Given the description of an element on the screen output the (x, y) to click on. 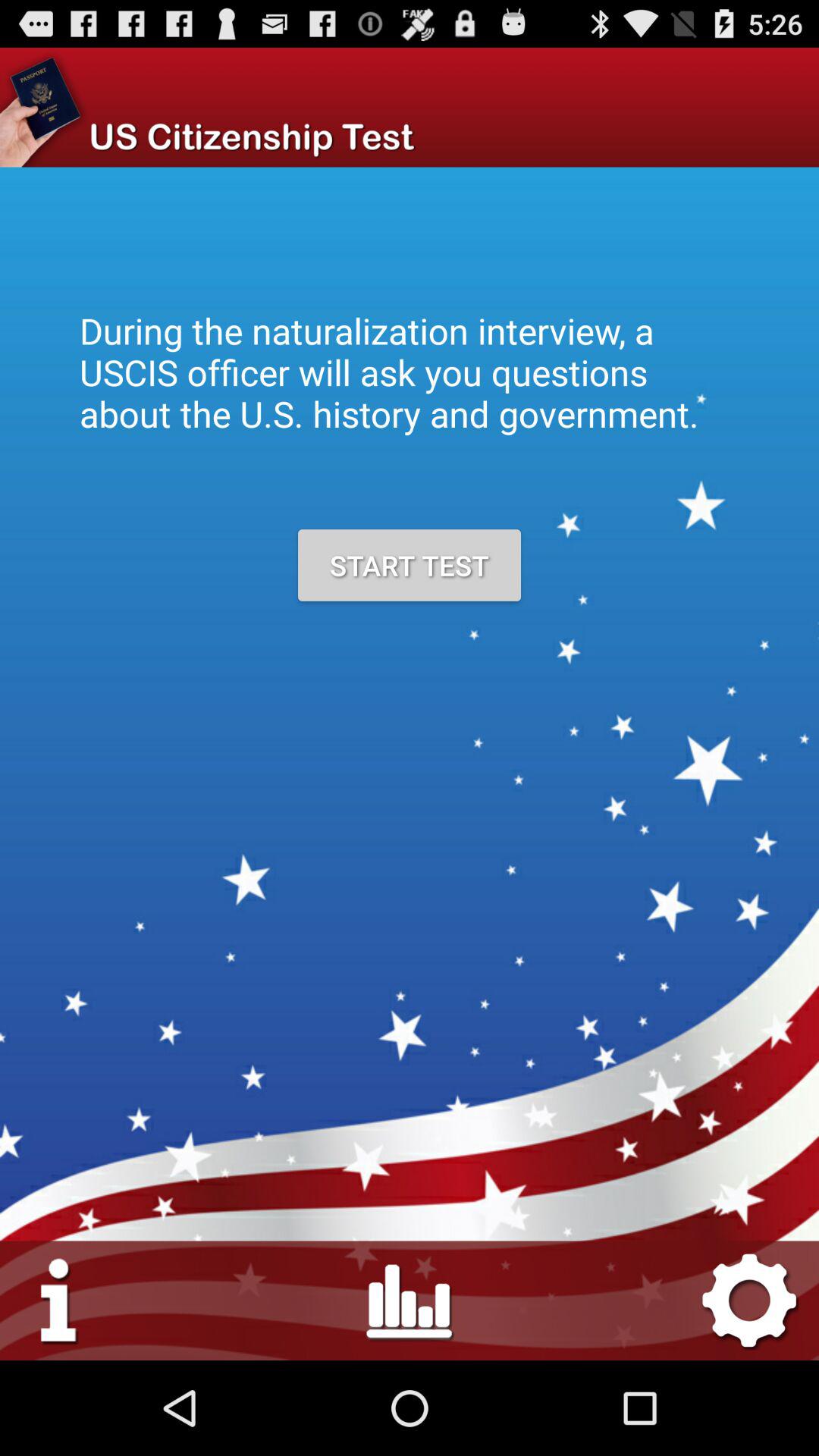
settings (59, 1300)
